Given the description of an element on the screen output the (x, y) to click on. 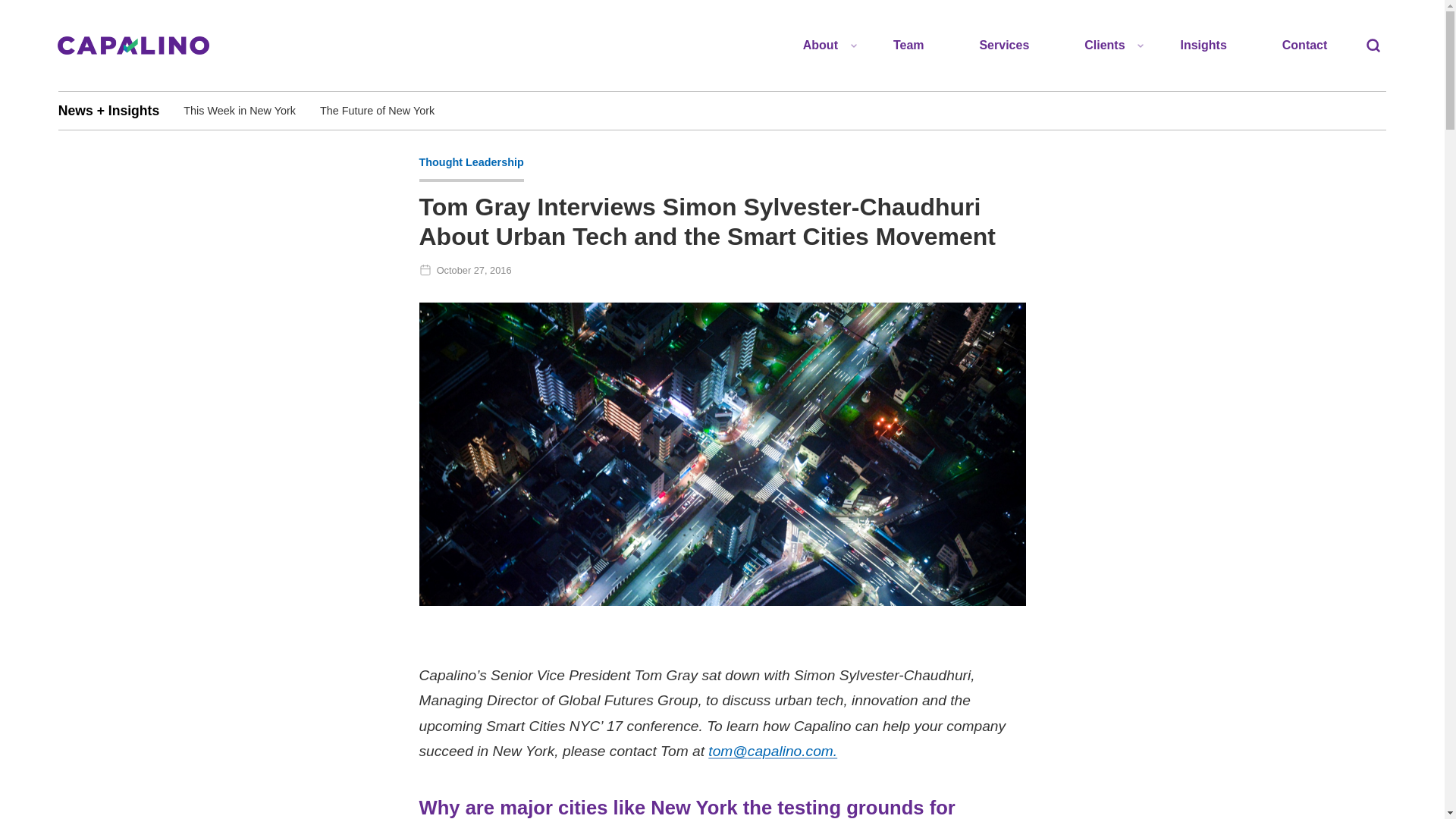
About (819, 45)
Services (1004, 45)
This Week in New York (239, 110)
Clients (1105, 45)
The Future of New York (376, 110)
Our Team (908, 45)
Our Clients (1112, 84)
About Us (844, 84)
Contact (1304, 45)
Insights (1203, 45)
